Given the description of an element on the screen output the (x, y) to click on. 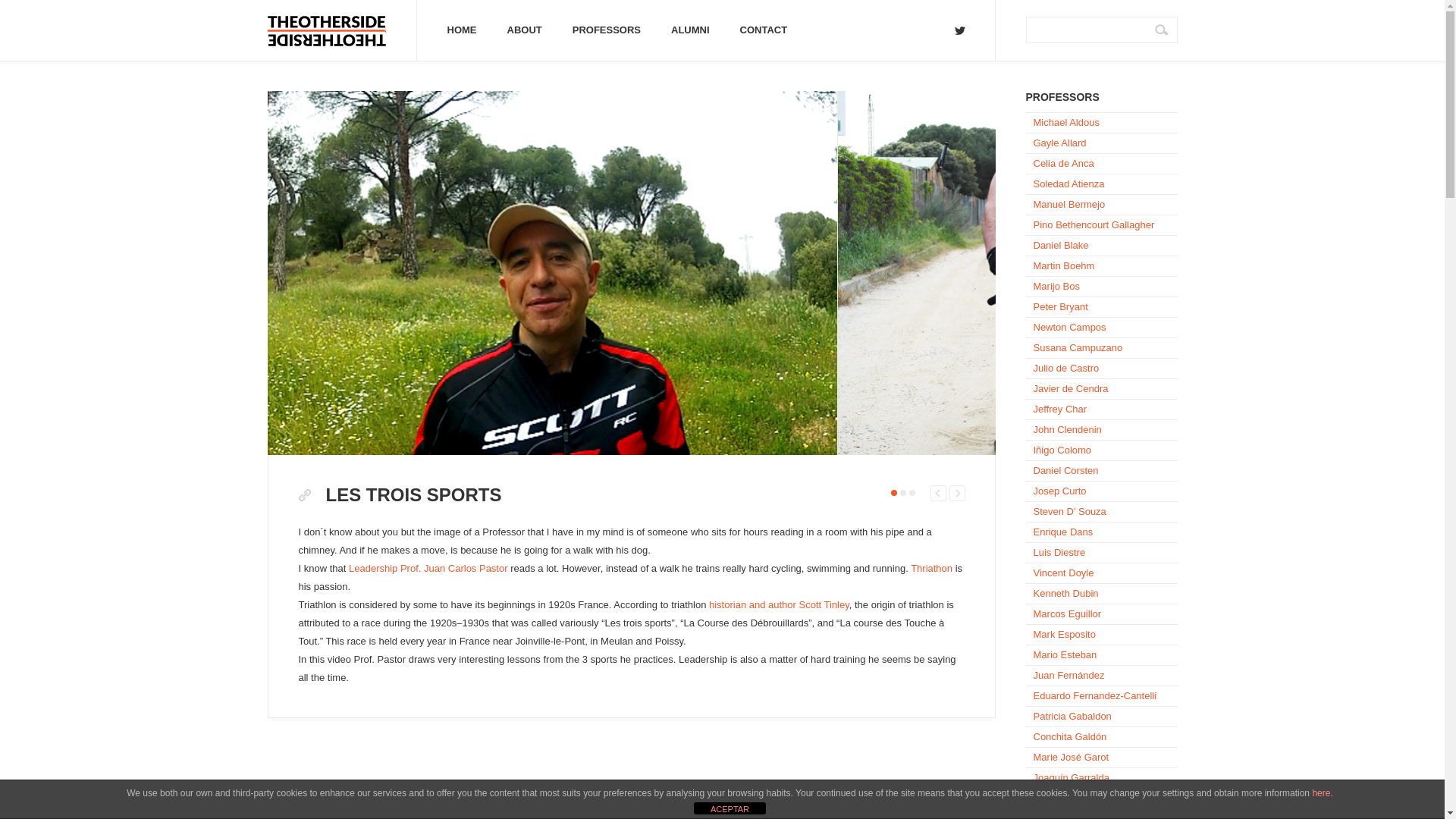
Michael Aldous (1100, 121)
Triathlon (931, 568)
Julio de Castro (1100, 367)
Susana Campuzano (1100, 347)
ABOUT (524, 30)
Celia de Anca (1100, 162)
Mark Esposito (1100, 633)
Mario Esteban (1100, 654)
Daniel Blake (1100, 244)
ALUMNI (690, 30)
